Given the description of an element on the screen output the (x, y) to click on. 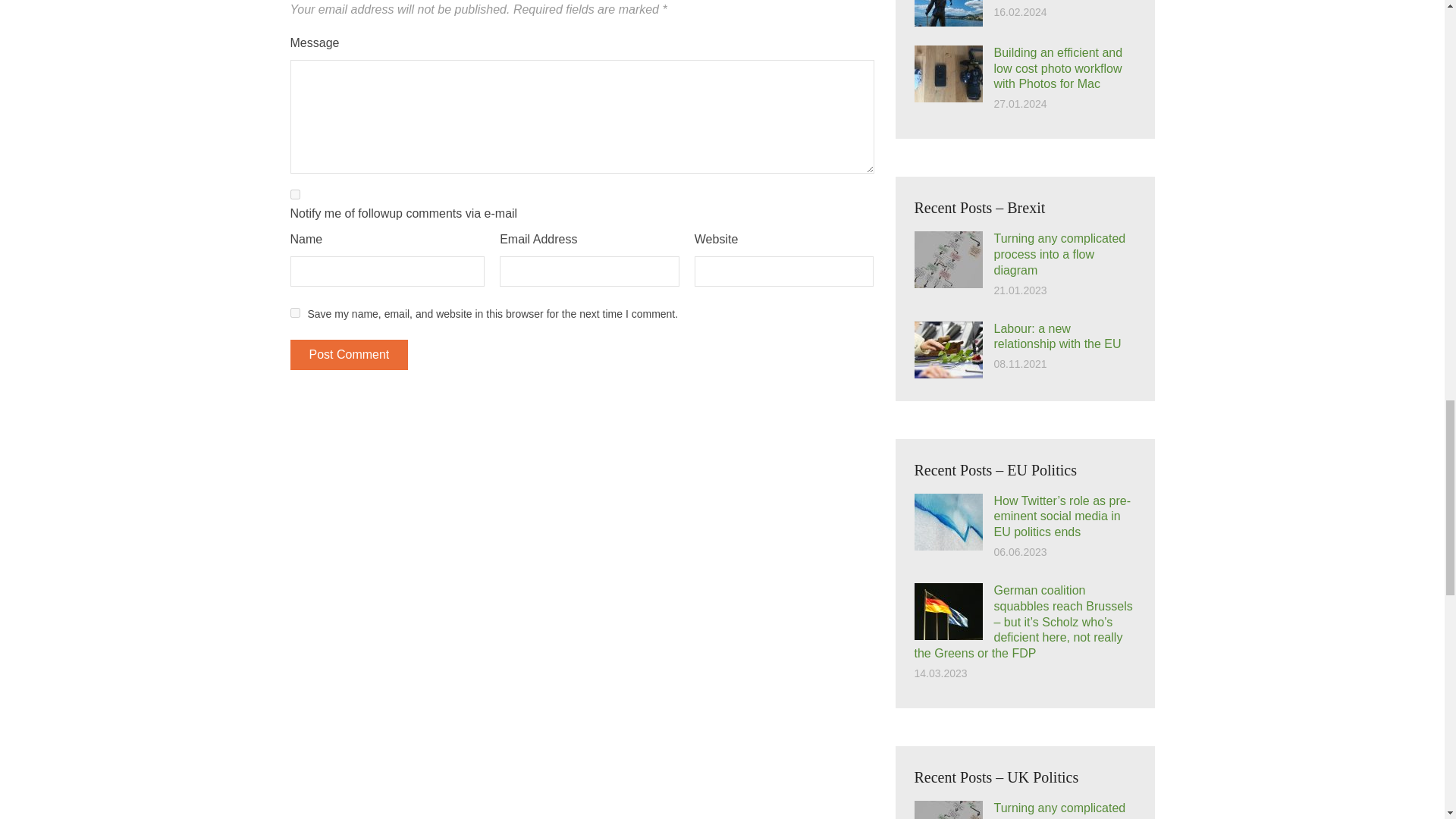
yes (294, 312)
Post Comment (348, 354)
subscribe (294, 194)
